Given the description of an element on the screen output the (x, y) to click on. 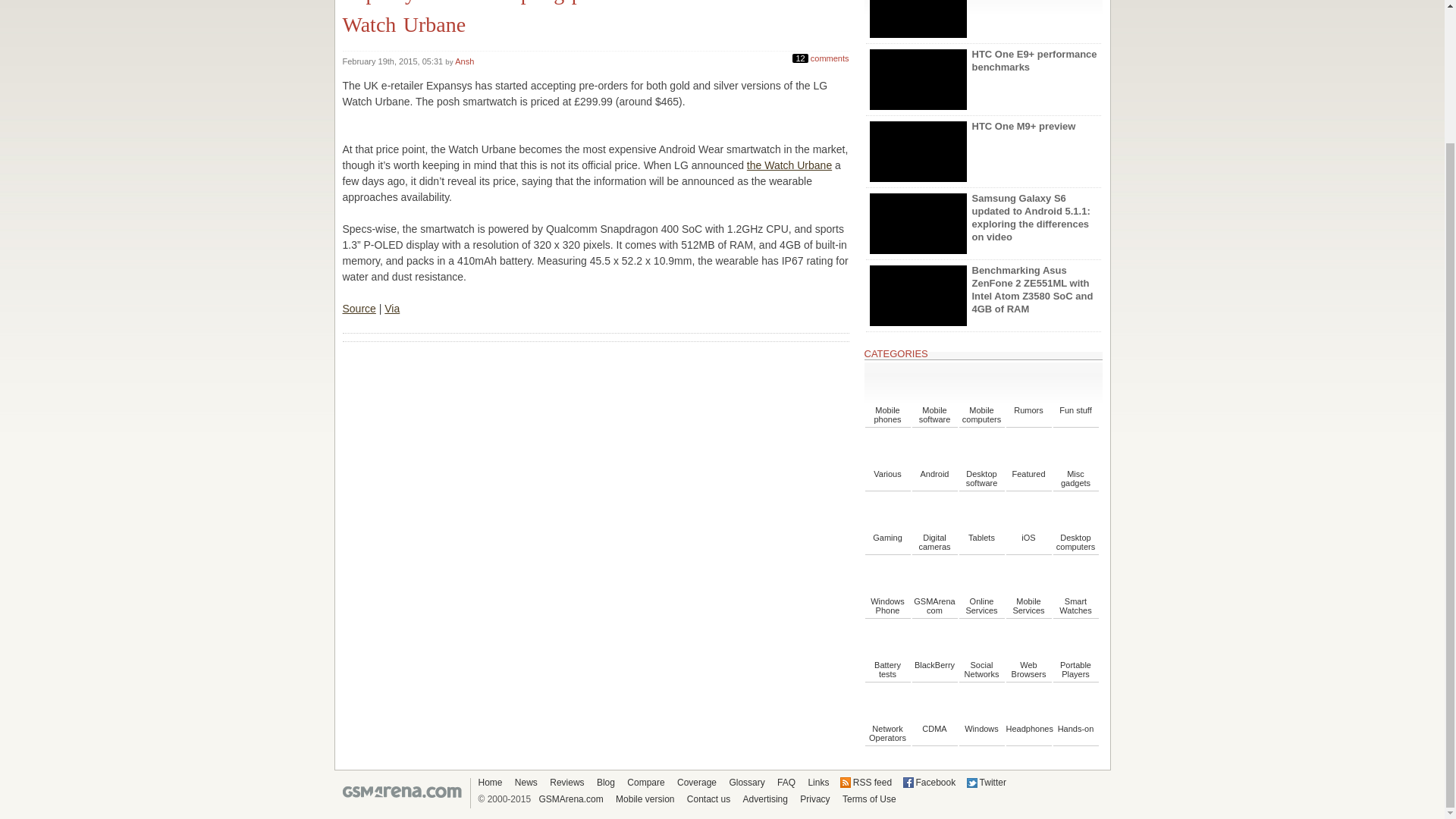
Via (391, 308)
the Watch Urbane (788, 164)
Ansh (464, 61)
19 February 2015 5:31:49 AM (393, 61)
Hot or Not: Android M, iOS 9 and Watch OS 2.0 (983, 21)
12 comments (820, 56)
Source (358, 308)
